Given the description of an element on the screen output the (x, y) to click on. 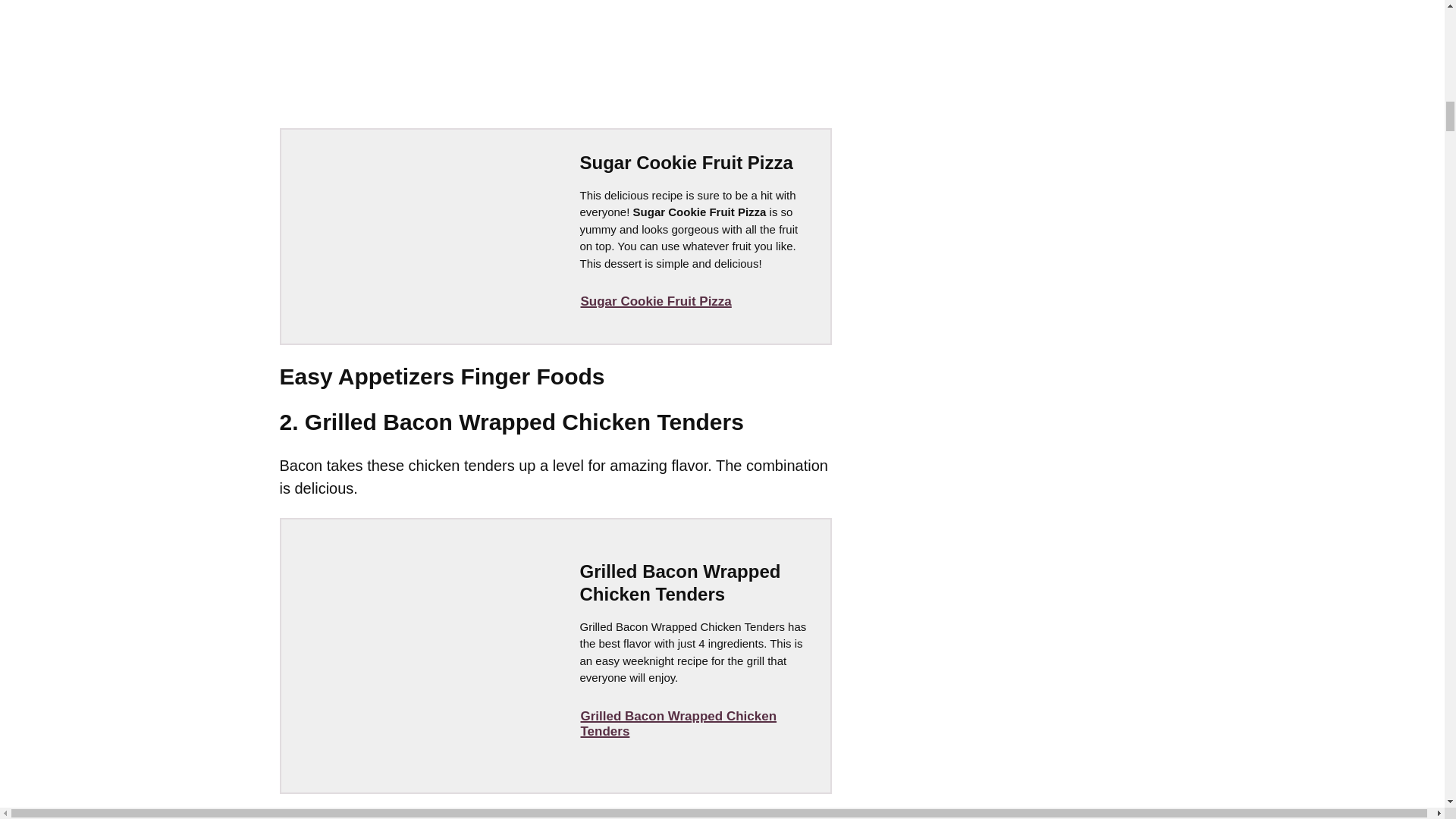
Sugar Cookie Fruit Pizza (655, 301)
Grilled Bacon Wrapped Chicken Tenders (691, 723)
